Given the description of an element on the screen output the (x, y) to click on. 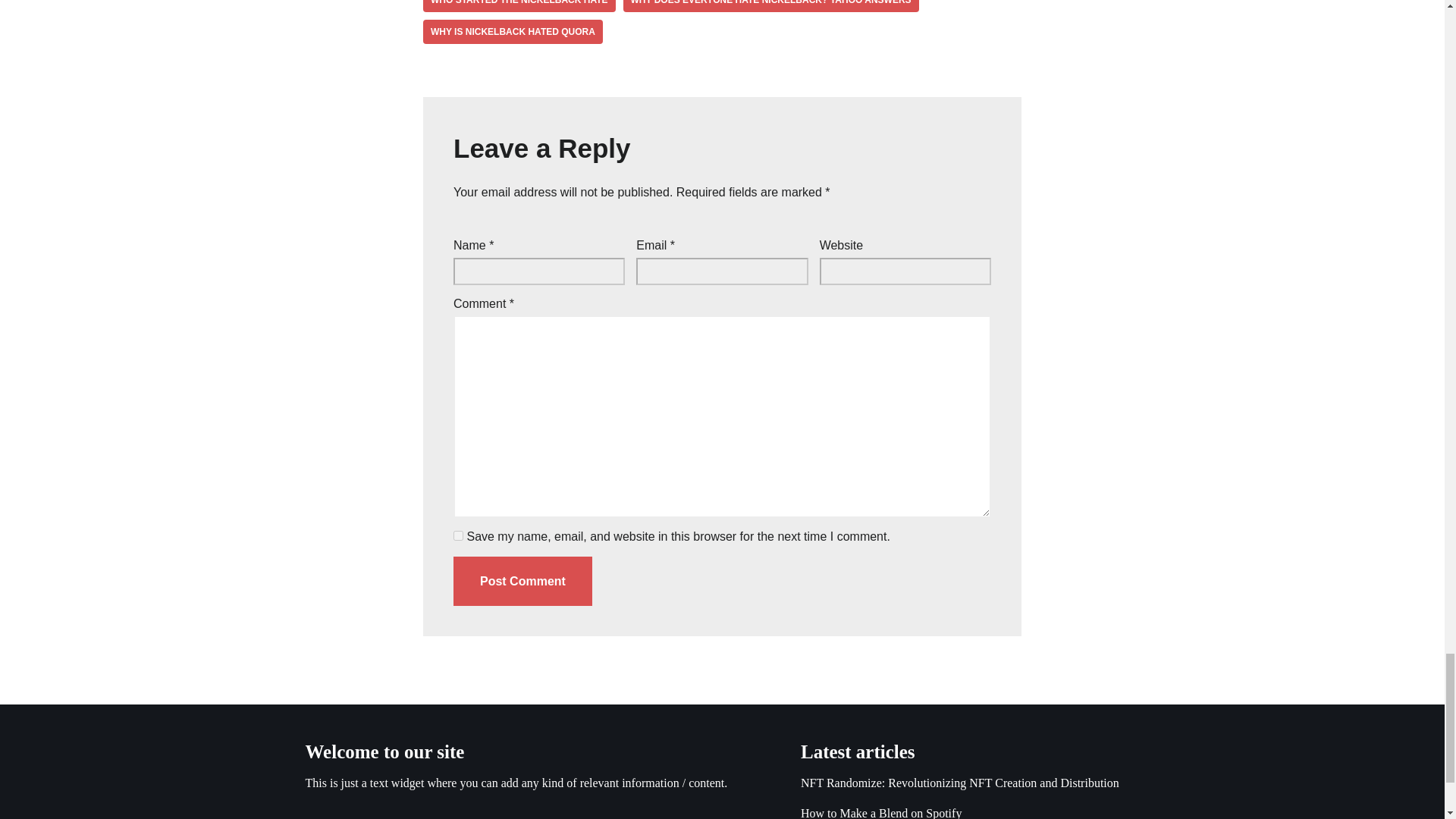
WHY DOES EVERYONE HATE NICKELBACK? YAHOO ANSWERS (770, 6)
Post Comment (522, 581)
Post Comment (522, 581)
why does everyone hate nickelback? yahoo answers (770, 6)
NFT Randomize: Revolutionizing NFT Creation and Distribution (959, 782)
How to Make a Blend on Spotify (880, 812)
why is nickelback hated quora (512, 31)
who started the nickelback hate (519, 6)
WHY IS NICKELBACK HATED QUORA (512, 31)
WHO STARTED THE NICKELBACK HATE (519, 6)
yes (457, 535)
